Given the description of an element on the screen output the (x, y) to click on. 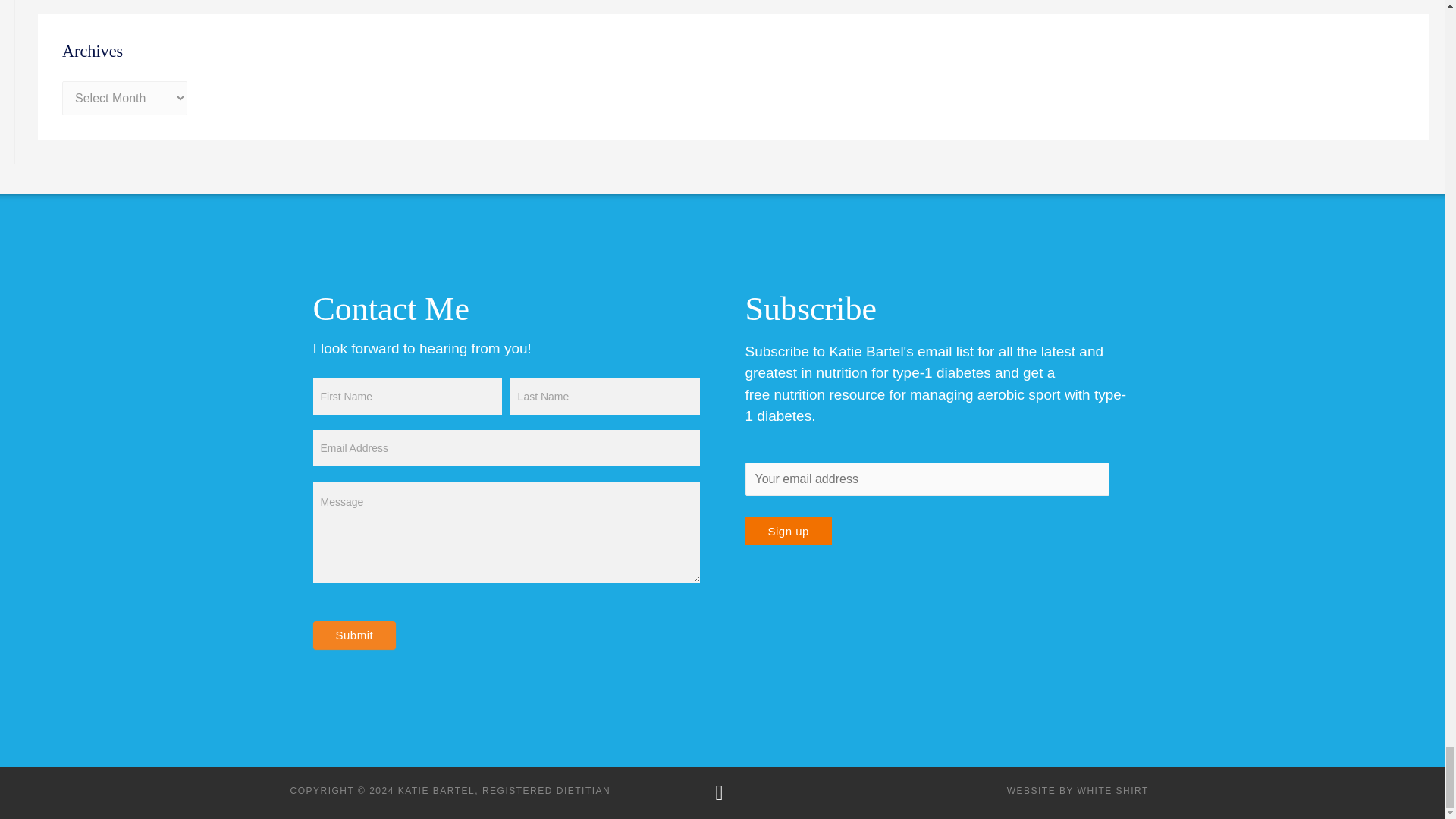
Sign up (787, 530)
